Given the description of an element on the screen output the (x, y) to click on. 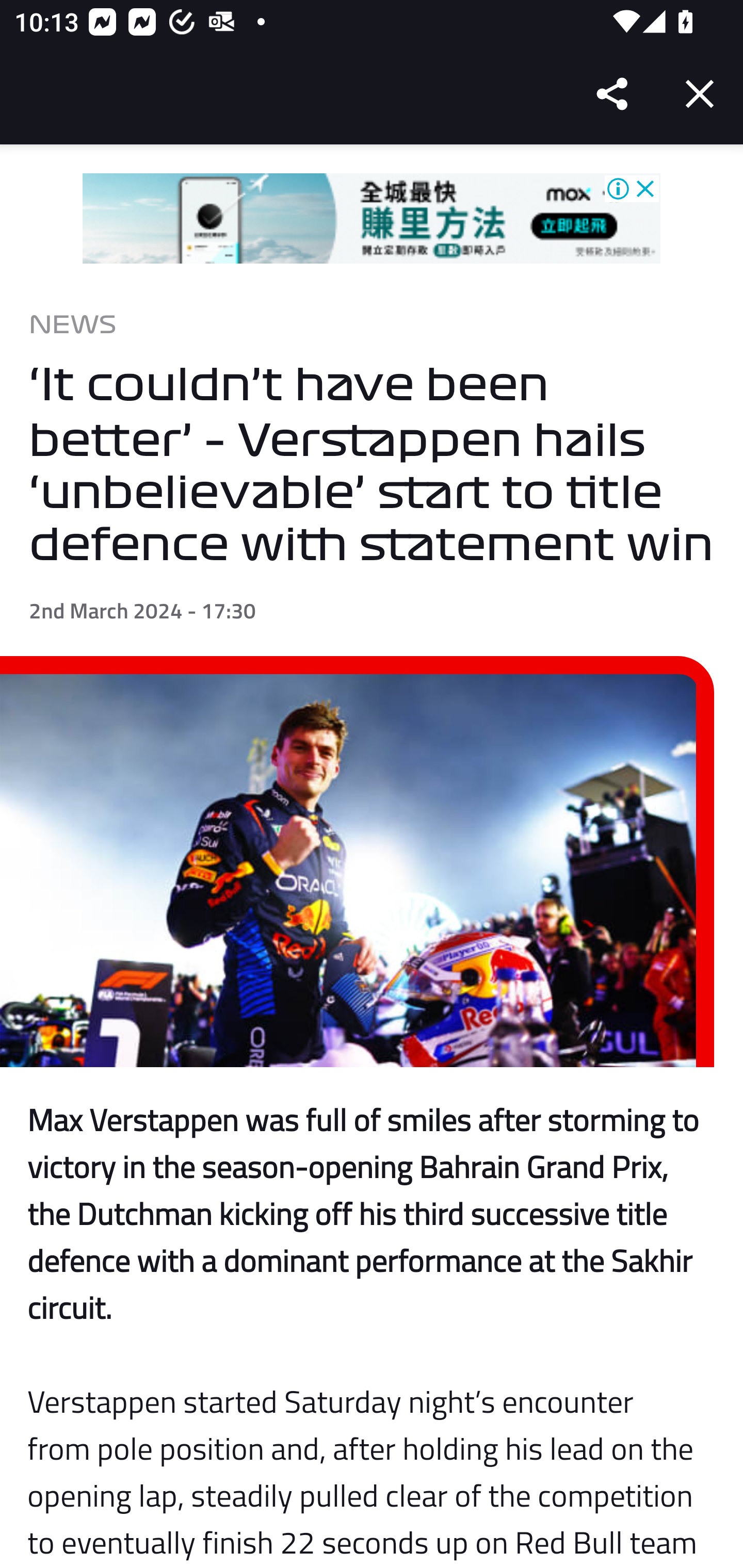
Share (612, 93)
Close (699, 93)
Advertisement (371, 218)
